Given the description of an element on the screen output the (x, y) to click on. 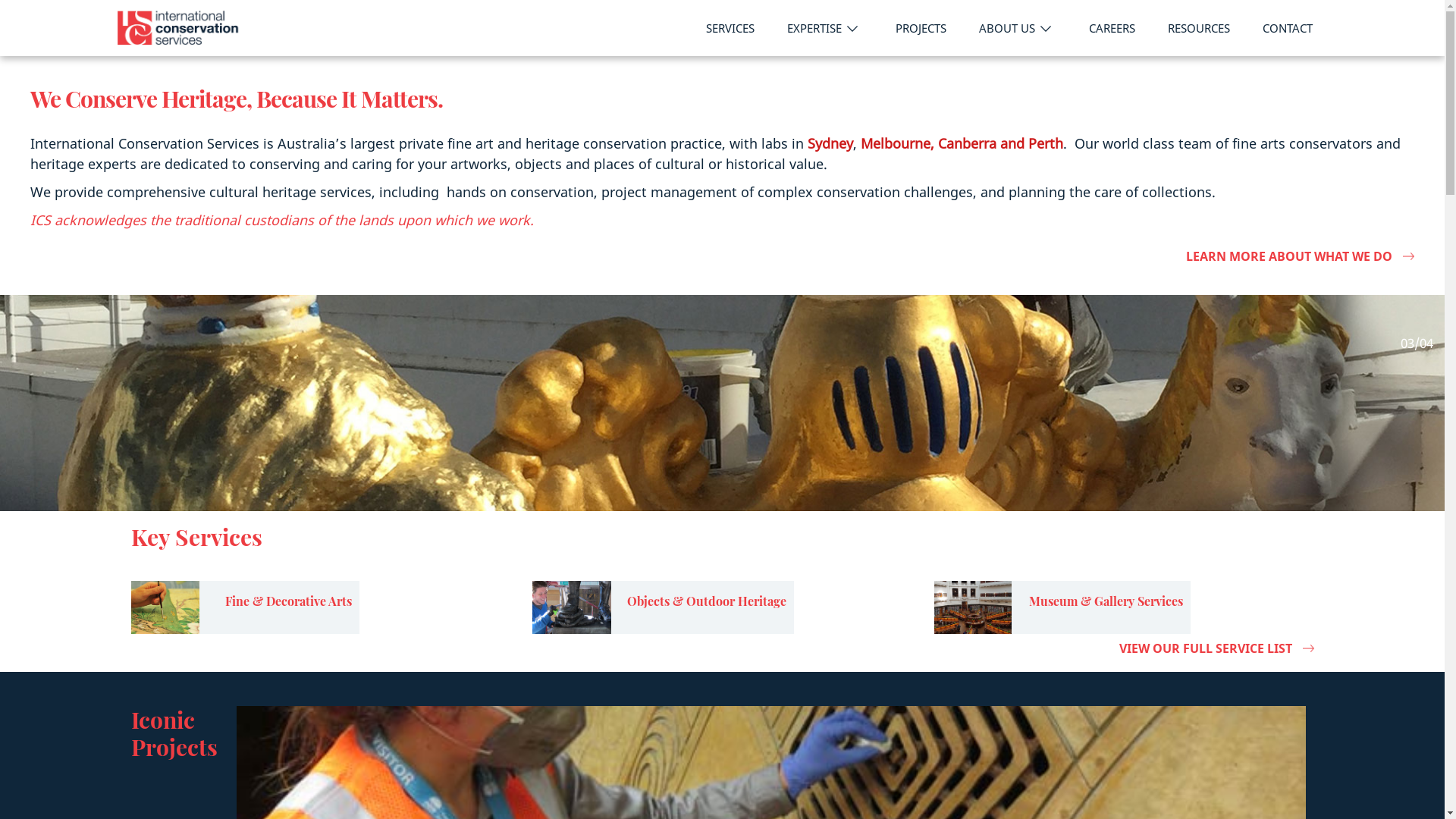
Objects & Outdoor Heritage Element type: text (702, 606)
Objects & Outdoor Heritage Element type: text (662, 606)
SERVICES Element type: text (729, 28)
VIEW OUR FULL SERVICE LIST Element type: text (721, 648)
CONTACT Element type: text (1286, 28)
LEARN MORE ABOUT WHAT WE DO Element type: text (722, 256)
Museum & Gallery Services Element type: text (1061, 606)
Fine & Decorative Arts Element type: text (279, 606)
ABOUT US Element type: text (1017, 28)
Museum & Gallery Services Element type: text (1100, 606)
PROJECTS Element type: text (920, 28)
EXPERTISE Element type: text (824, 28)
RESOURCES Element type: text (1198, 28)
Fine & Decorative Arts Element type: text (244, 606)
CAREERS Element type: text (1111, 28)
